Given the description of an element on the screen output the (x, y) to click on. 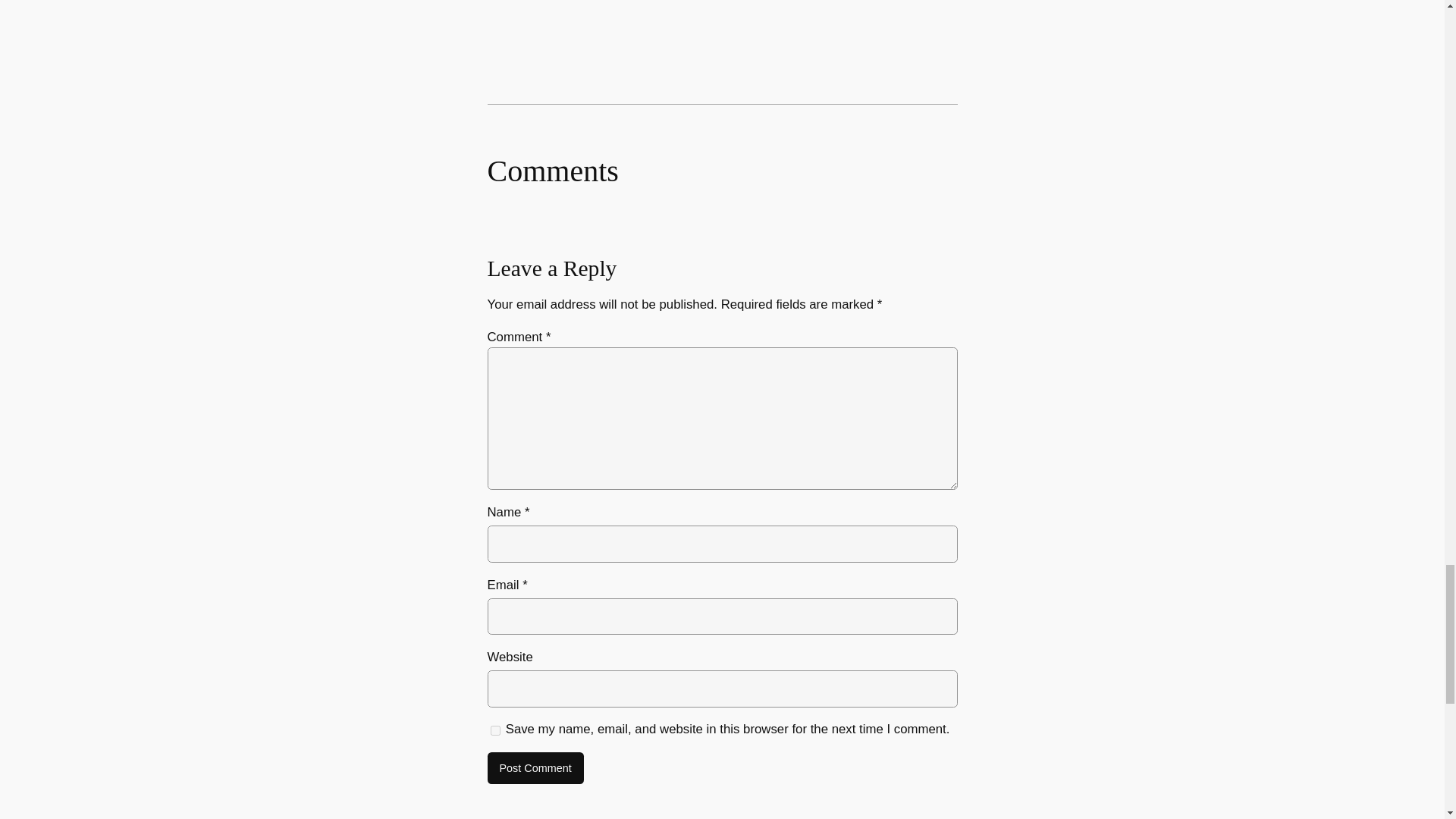
Post Comment (534, 767)
Post Comment (534, 767)
